Given the description of an element on the screen output the (x, y) to click on. 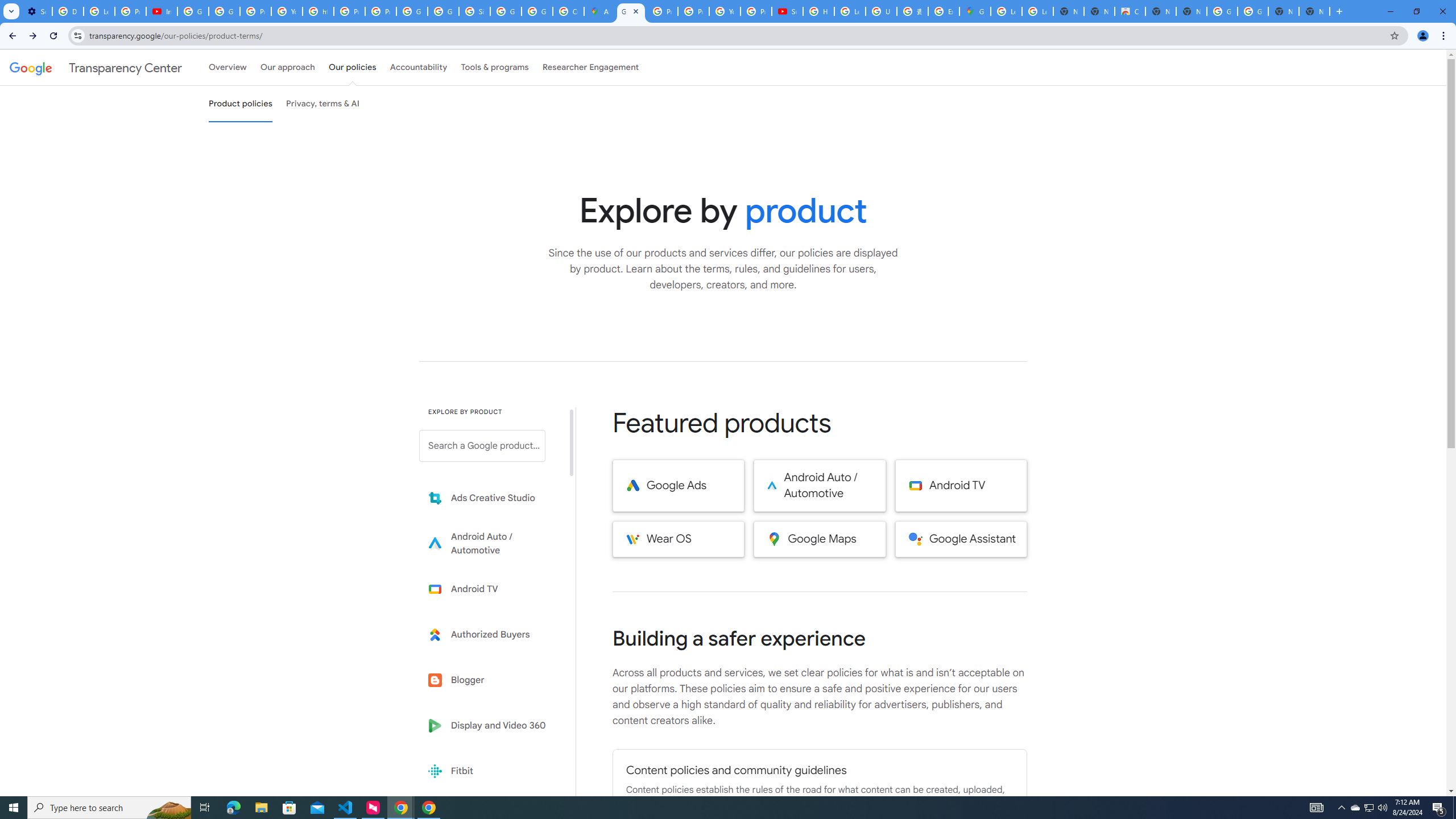
Learn more about Android TV (490, 588)
Tools & programs (494, 67)
Privacy Help Center - Policies Help (693, 11)
Sign in - Google Accounts (474, 11)
Google Account Help (223, 11)
Subscriptions - YouTube (787, 11)
How Chrome protects your passwords - Google Chrome Help (818, 11)
Learn how to find your photos - Google Photos Help (98, 11)
